Given the description of an element on the screen output the (x, y) to click on. 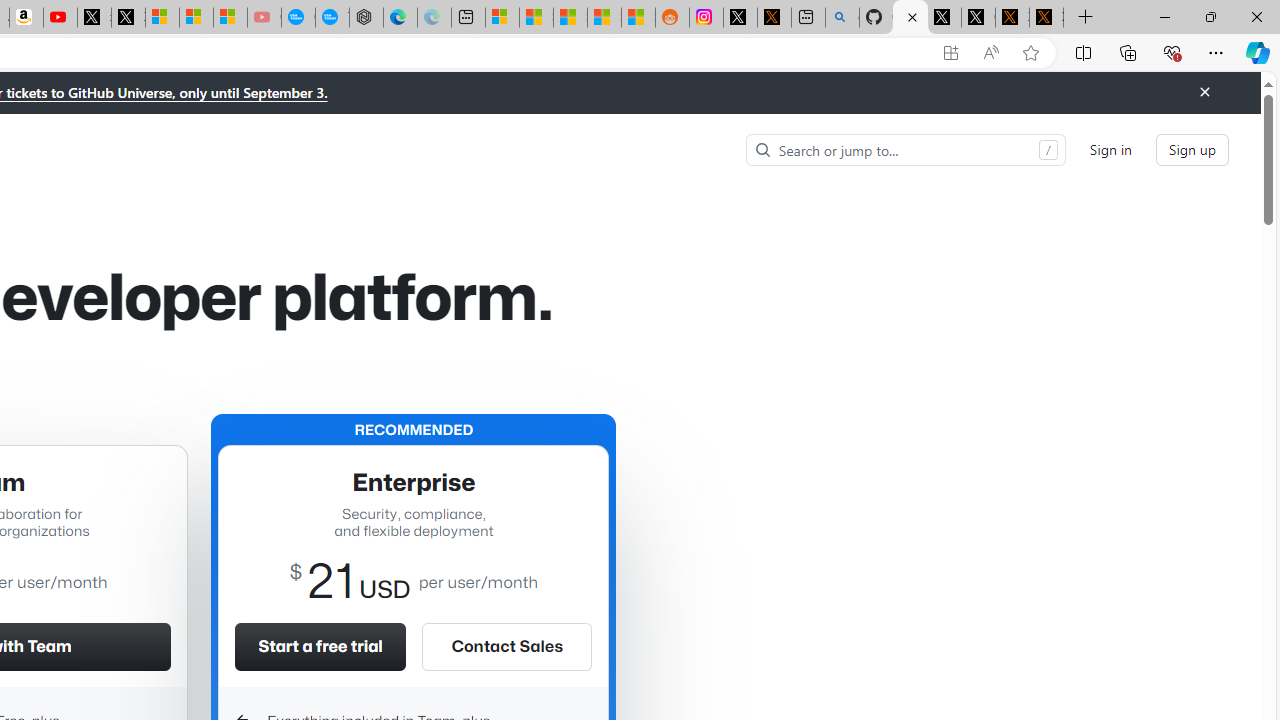
Shanghai, China hourly forecast | Microsoft Weather (570, 17)
Profile / X (944, 17)
Microsoft account | Microsoft Account Privacy Settings (502, 17)
X Privacy Policy (1046, 17)
Sign in (1110, 149)
